Given the description of an element on the screen output the (x, y) to click on. 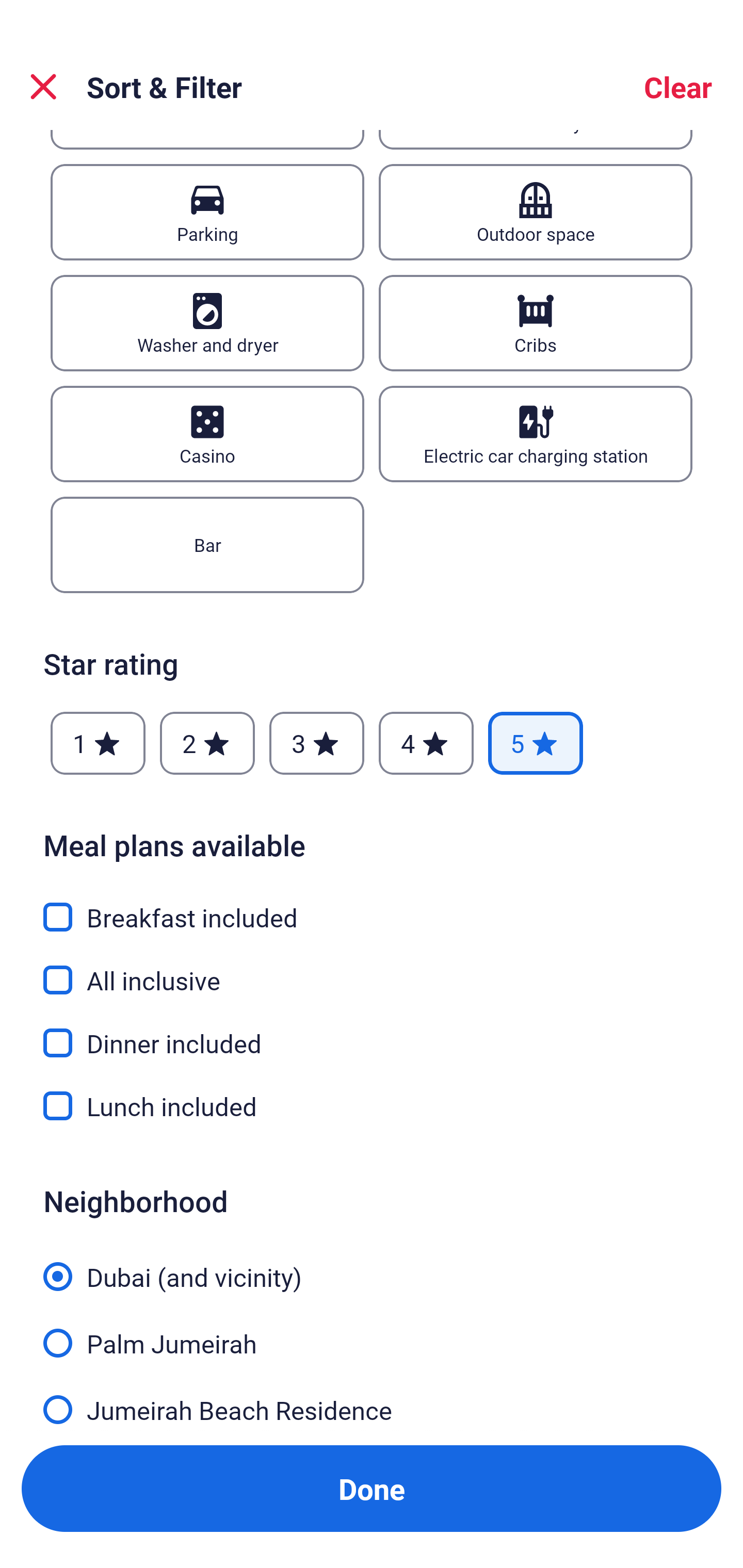
Close Sort and Filter (43, 86)
Clear (677, 86)
Parking (207, 212)
Outdoor space (535, 212)
Washer and dryer (207, 322)
Cribs (535, 322)
Casino (207, 433)
Electric car charging station (535, 433)
Bar (207, 544)
1 (97, 743)
2 (206, 743)
3 (316, 743)
4 (426, 743)
5 (535, 743)
Breakfast included, Breakfast included (371, 905)
All inclusive, All inclusive (371, 968)
Dinner included, Dinner included (371, 1031)
Lunch included, Lunch included (371, 1106)
Palm Jumeirah (371, 1331)
Jumeirah Beach Residence (371, 1405)
Apply and close Sort and Filter Done (371, 1488)
